Given the description of an element on the screen output the (x, y) to click on. 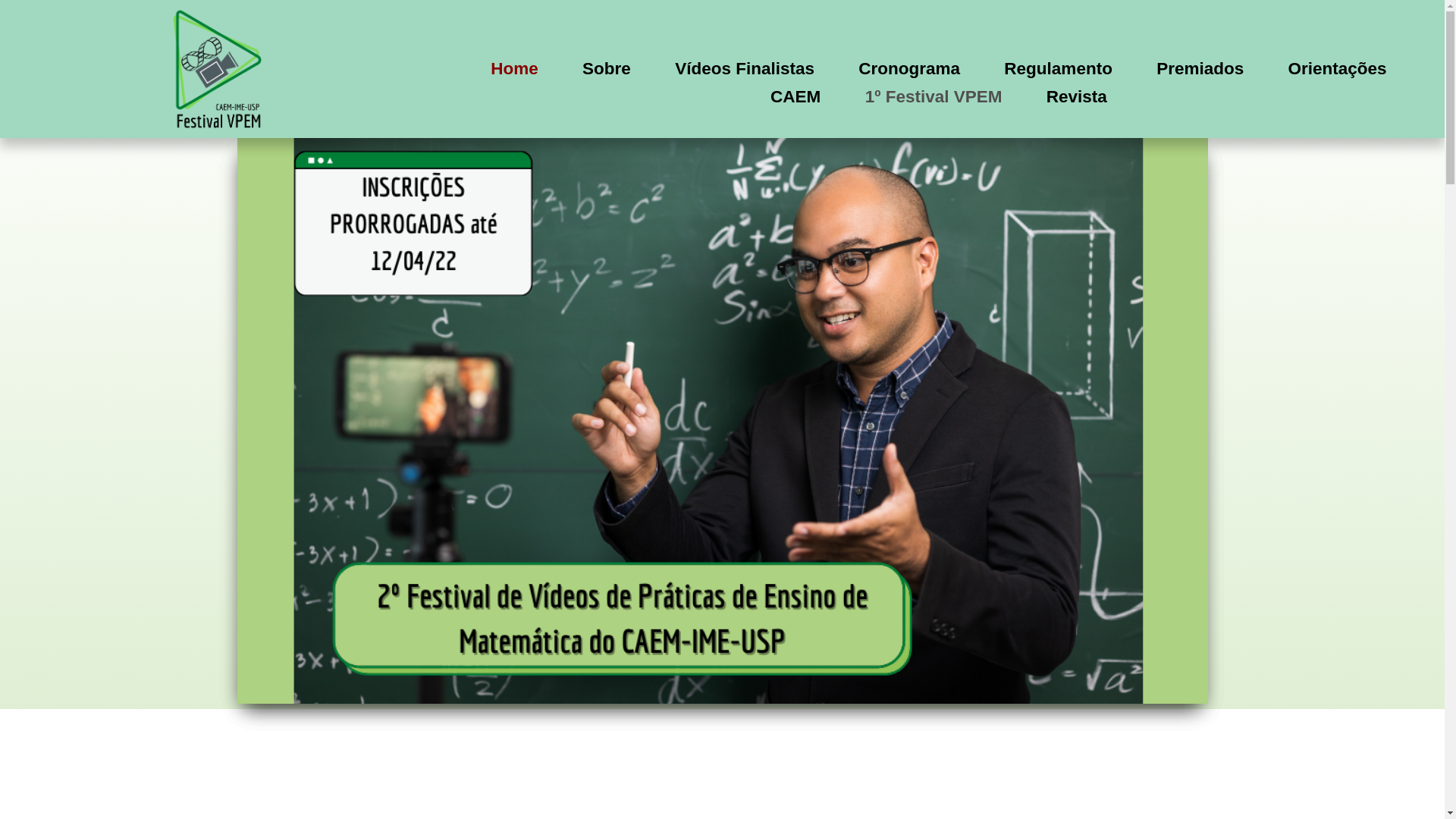
Festival de Videos Element type: hover (217, 68)
Premiados Element type: text (1199, 68)
Revista Element type: text (1076, 96)
Home Element type: text (514, 68)
Sobre Element type: text (606, 68)
CAEM Element type: text (795, 96)
Cronograma Element type: text (909, 68)
Regulamento Element type: text (1058, 68)
